Given the description of an element on the screen output the (x, y) to click on. 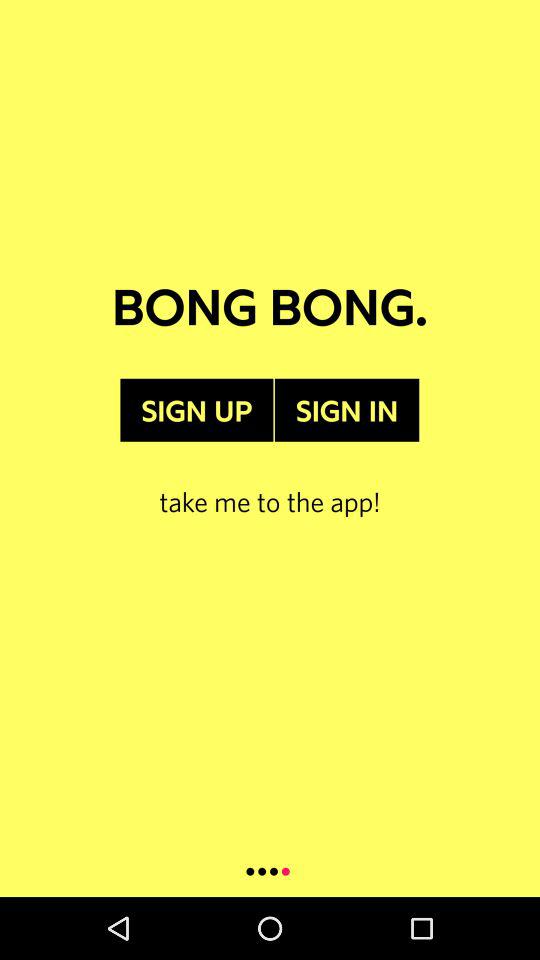
jump to the take me to (269, 480)
